Given the description of an element on the screen output the (x, y) to click on. 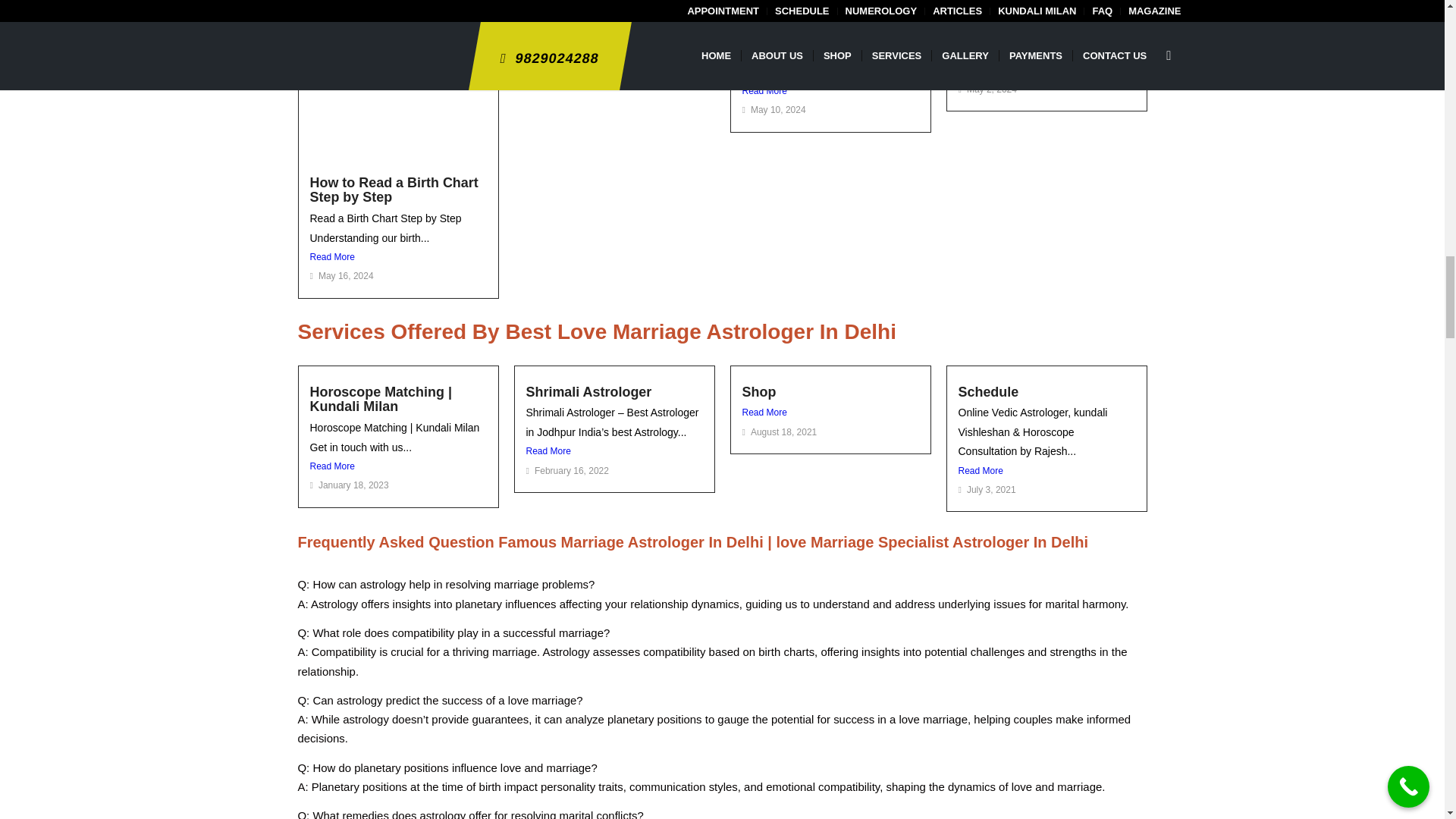
How to Read a Birth Chart Step by Step (392, 190)
Shrimali Astrologer (588, 391)
Shop (758, 391)
6 Plants to Avoid at Home as per Vastu (1041, 9)
Schedule (988, 391)
Role and Importance Of Rahu In Astrology (818, 23)
